Given the description of an element on the screen output the (x, y) to click on. 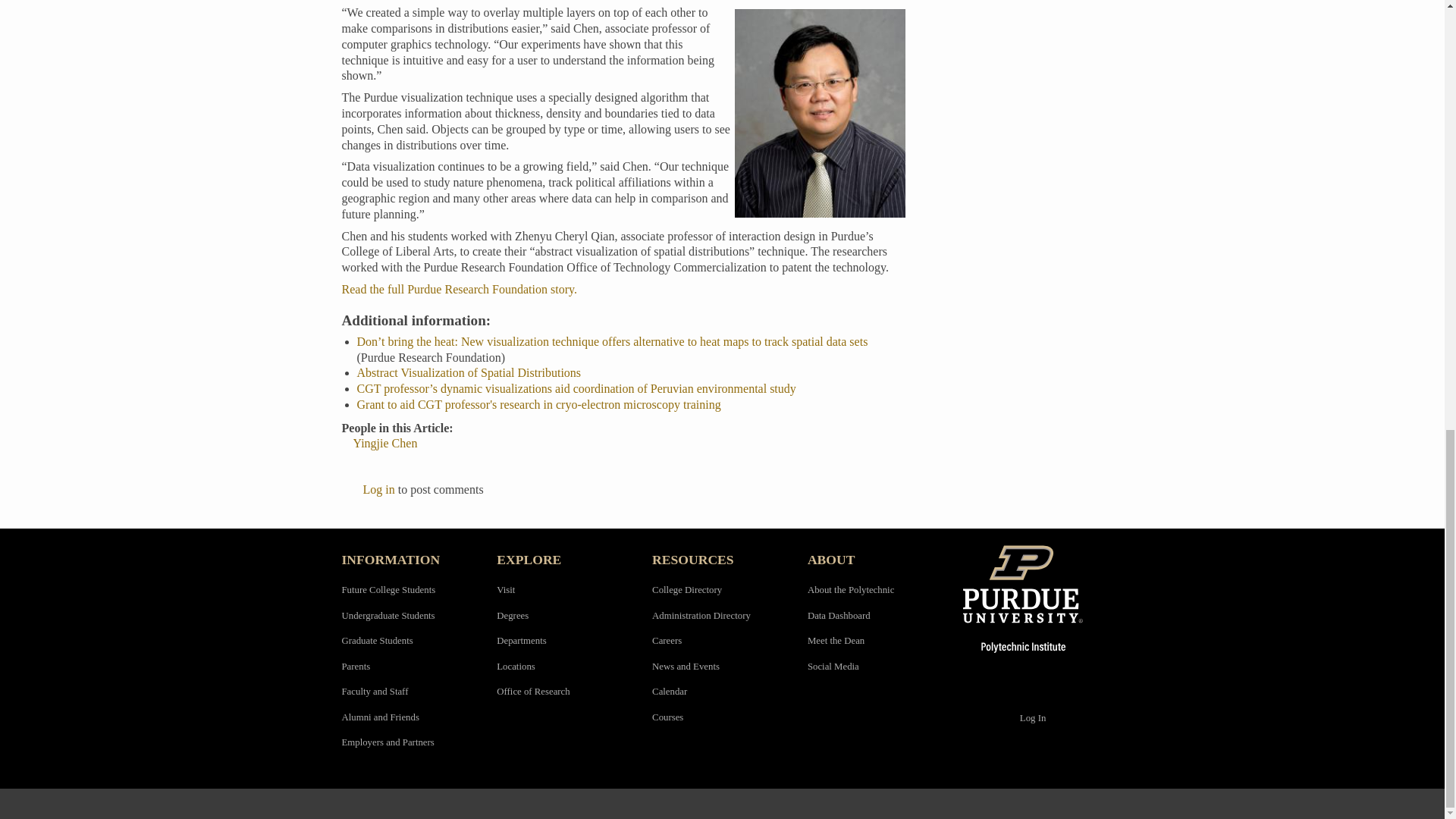
Yingjie Chen (385, 442)
Log in (378, 489)
Read the full Purdue Research Foundation story. (458, 288)
Abstract Visualization of Spatial Distributions (468, 372)
Purdue Polytechnic Institute (1032, 598)
